Given the description of an element on the screen output the (x, y) to click on. 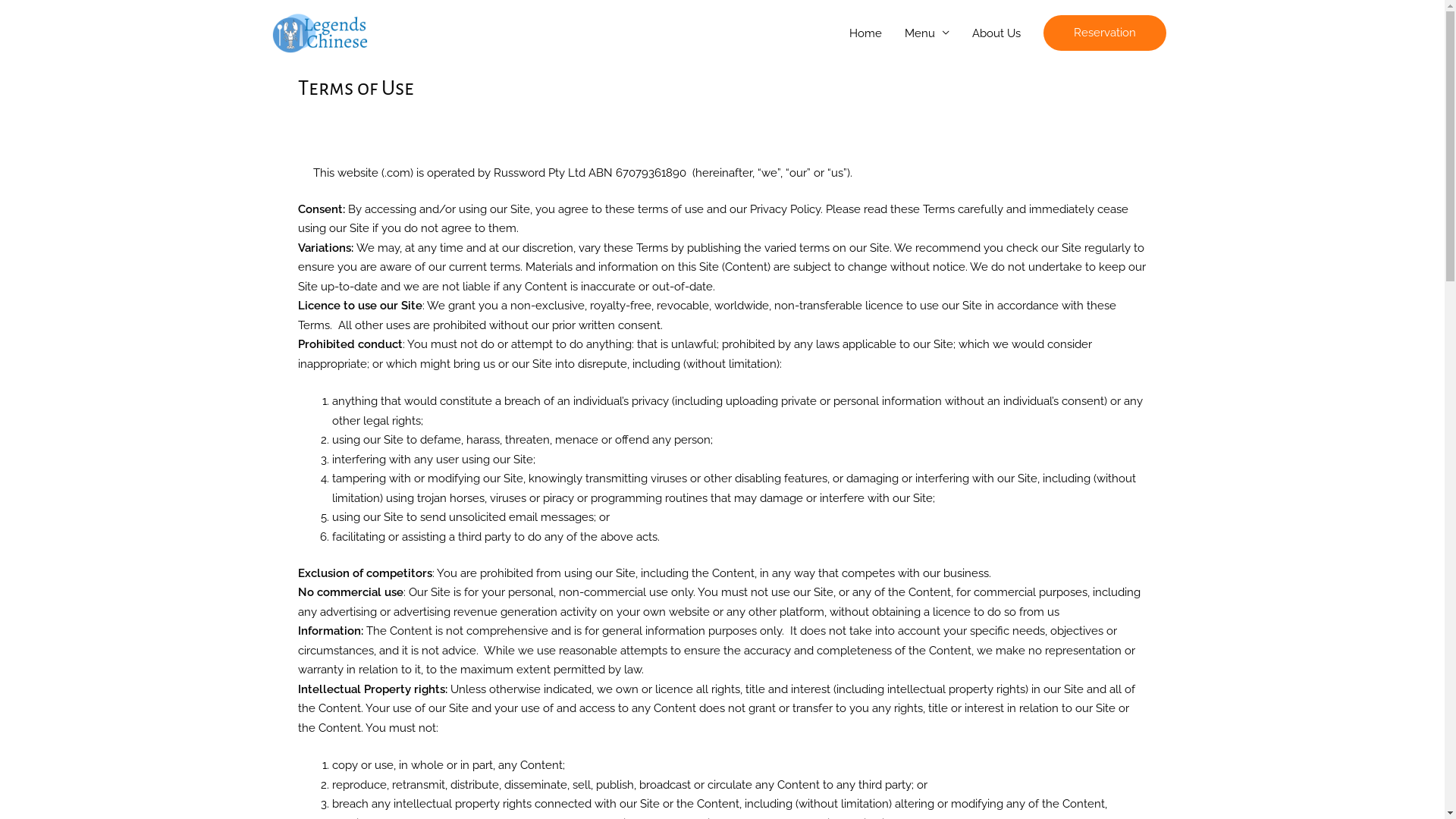
Reservation Element type: text (1104, 32)
Home Element type: text (864, 32)
Menu Element type: text (926, 32)
About Us Element type: text (995, 32)
